Given the description of an element on the screen output the (x, y) to click on. 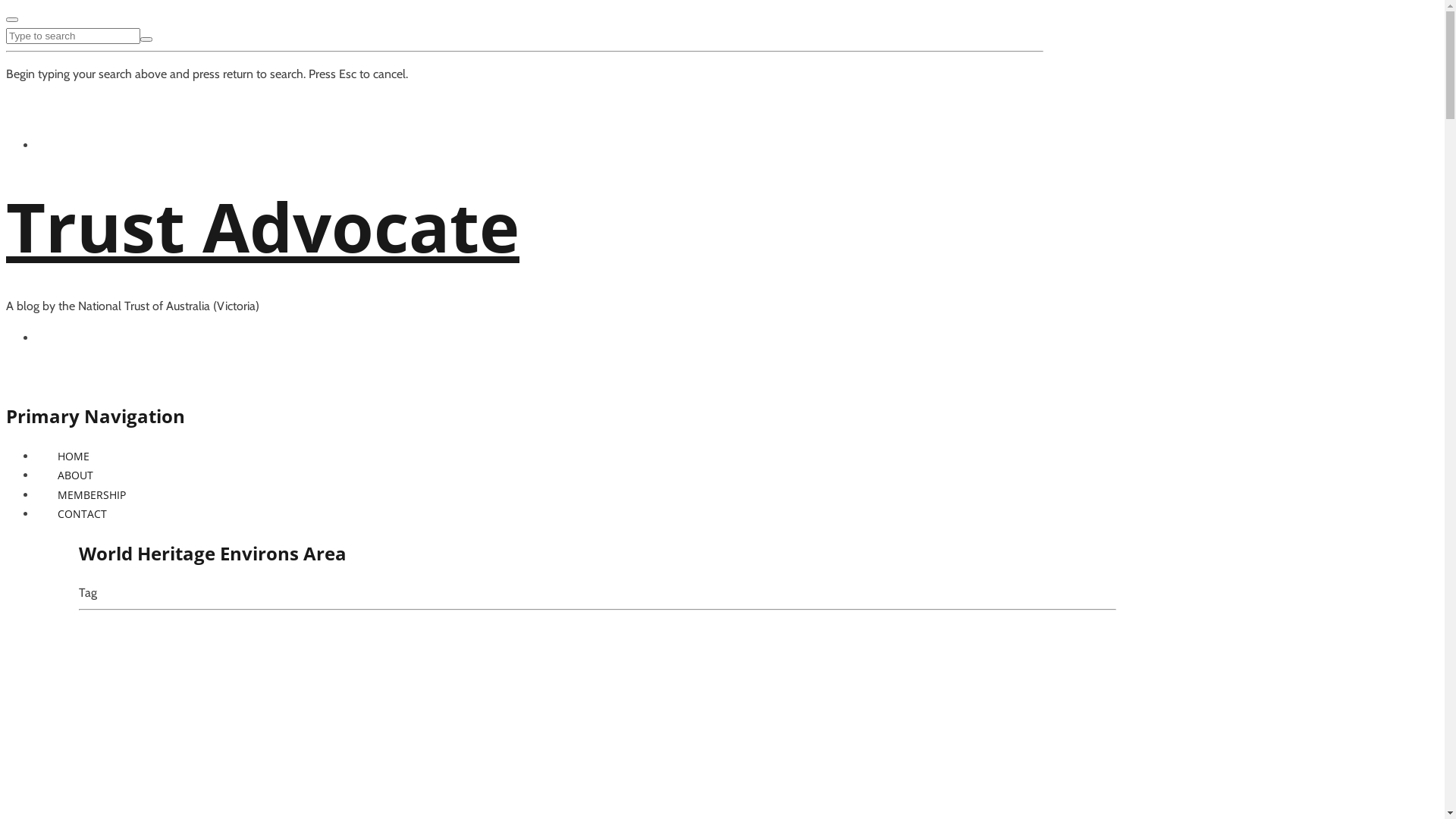
Trust Advocate Element type: text (262, 225)
ABOUT Element type: text (75, 474)
HOME Element type: text (73, 455)
CONTACT Element type: text (82, 513)
MEMBERSHIP Element type: text (91, 494)
